Given the description of an element on the screen output the (x, y) to click on. 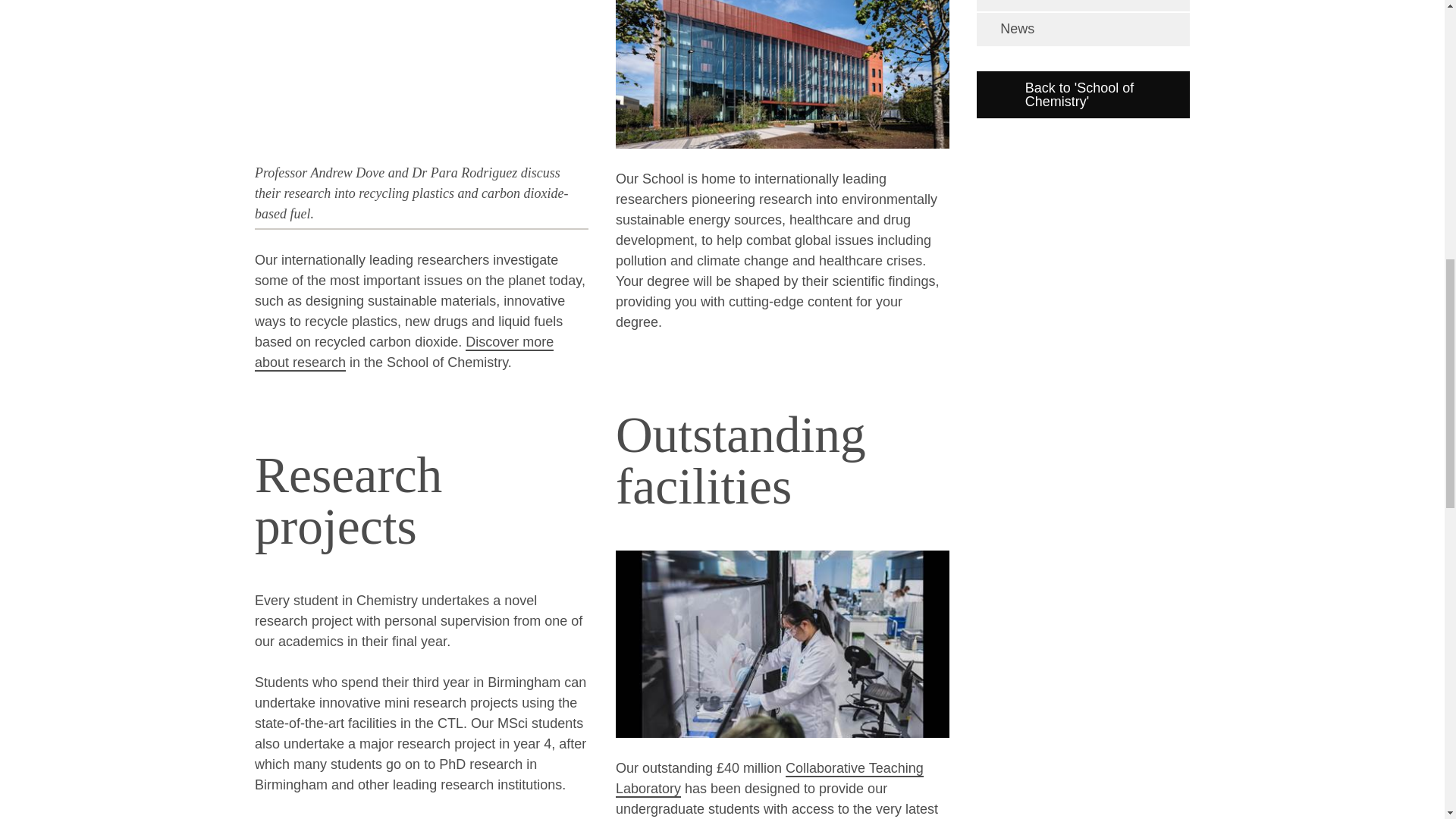
Back to 'School of Chemistry' (1082, 94)
Discover more about research (403, 352)
Why chemistry: recycling (421, 78)
Collaborative Teaching Laboratory (769, 778)
Chemistry at Birmingham - World-leading research (403, 352)
News (1082, 29)
Contact (1082, 5)
